Given the description of an element on the screen output the (x, y) to click on. 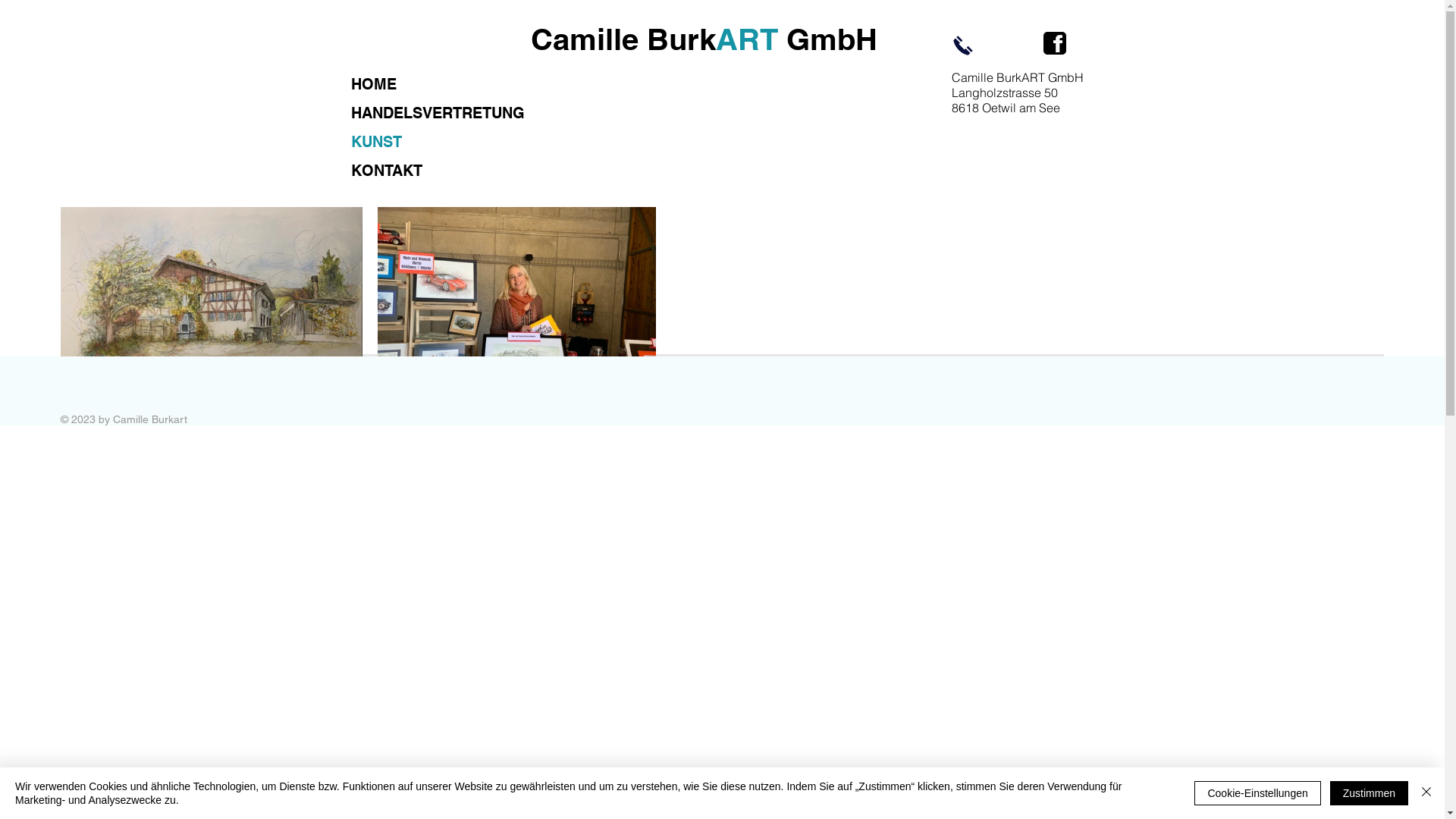
Zustimmen Element type: text (1369, 793)
HANDELSVERTRETUNG Element type: text (465, 112)
KUNST Element type: text (465, 141)
HOME Element type: text (465, 83)
KONTAKT Element type: text (465, 170)
Cookie-Einstellungen Element type: text (1257, 793)
